Given the description of an element on the screen output the (x, y) to click on. 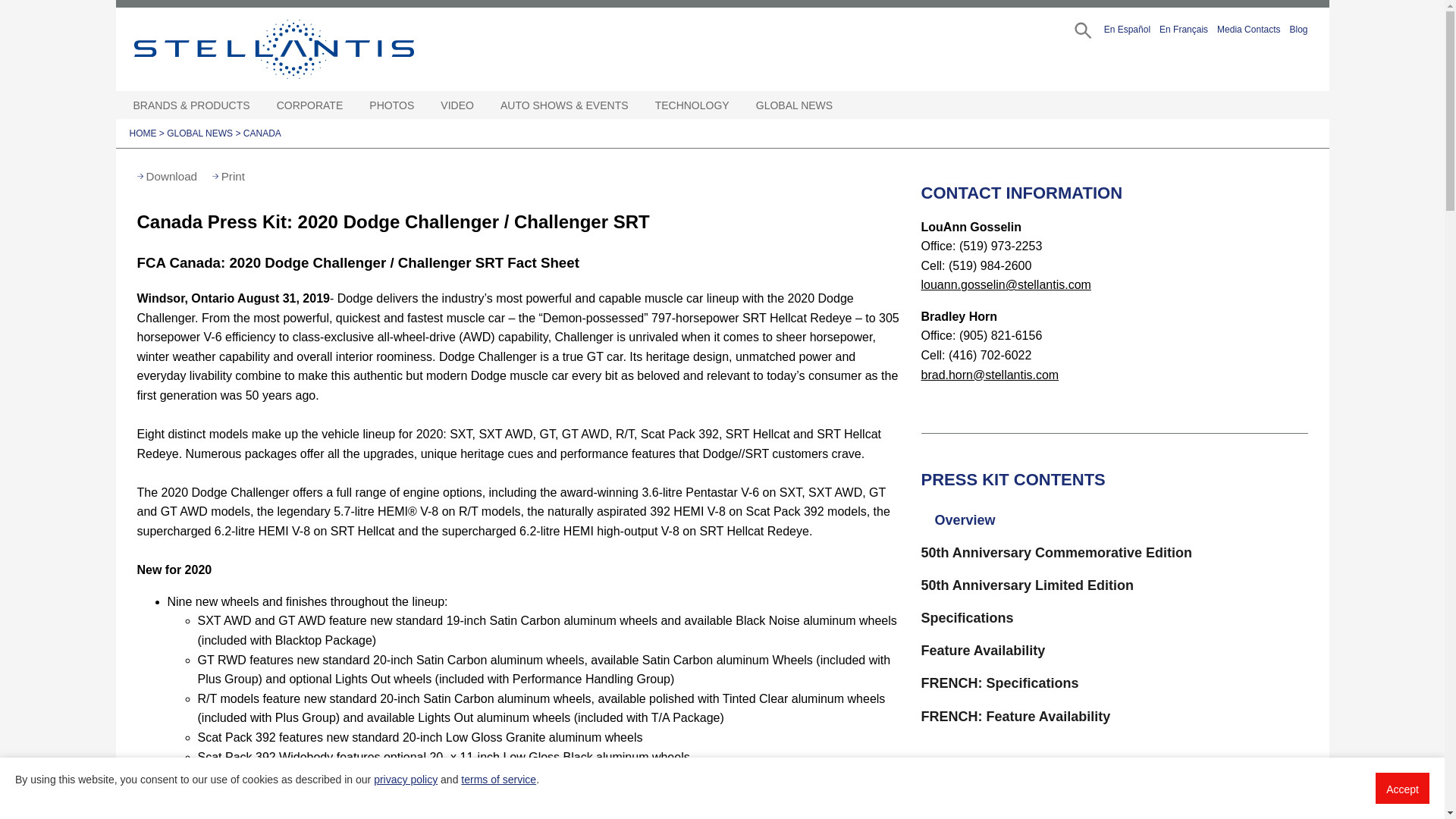
Blog (1297, 27)
Media Contacts (1248, 27)
Stellantis (307, 48)
go to Stellantis (307, 48)
